Given the description of an element on the screen output the (x, y) to click on. 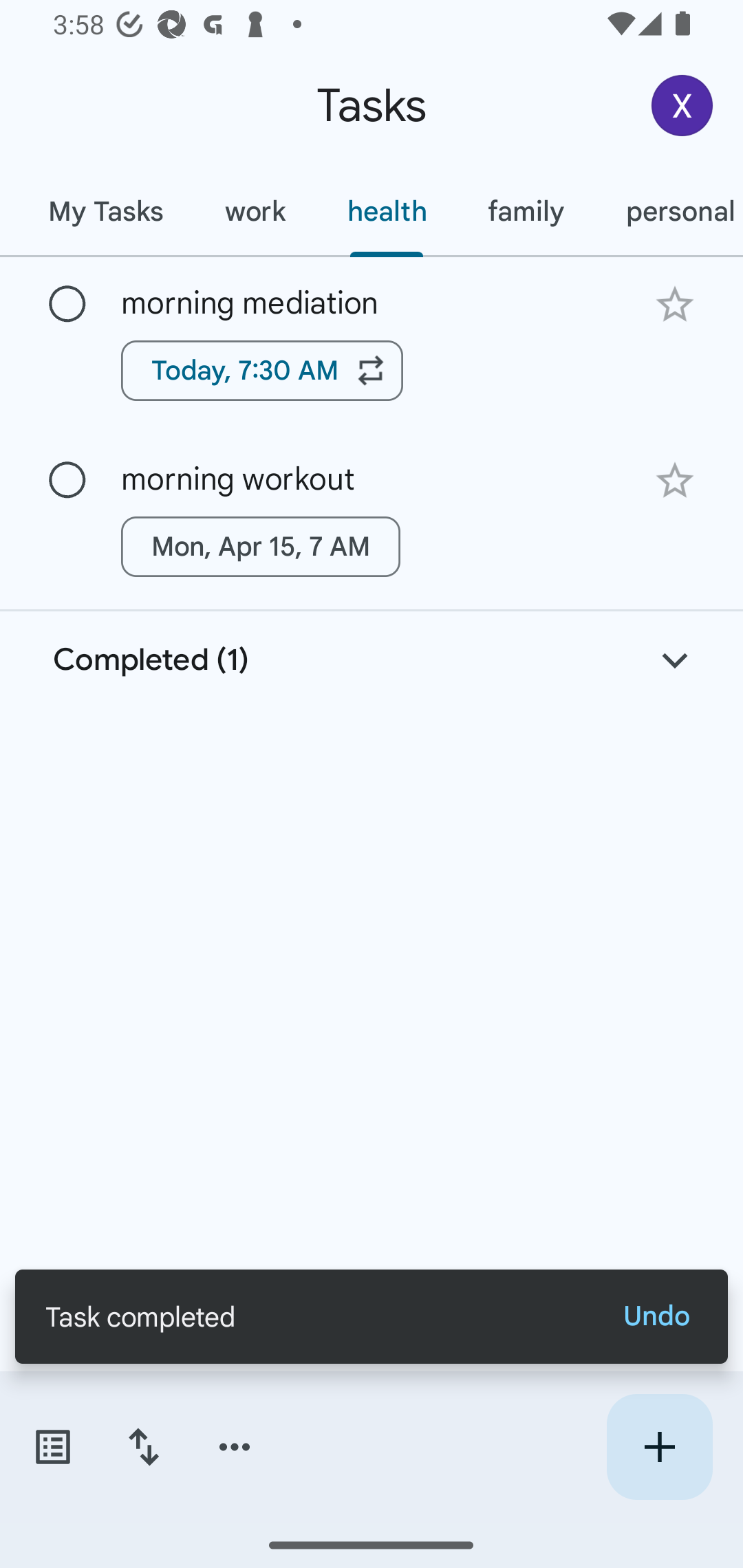
My Tasks (105, 211)
work (254, 211)
family (525, 211)
personal (669, 211)
Add star (674, 303)
Mark as complete (67, 304)
Today, 7:30 AM (262, 369)
Add star (674, 480)
Mark as complete (67, 480)
Mon, Apr 15, 7 AM (260, 546)
Completed (1) (371, 660)
Undo (656, 1316)
Switch task lists (52, 1447)
Create new task (659, 1446)
Change sort order (143, 1446)
More options (234, 1446)
